Given the description of an element on the screen output the (x, y) to click on. 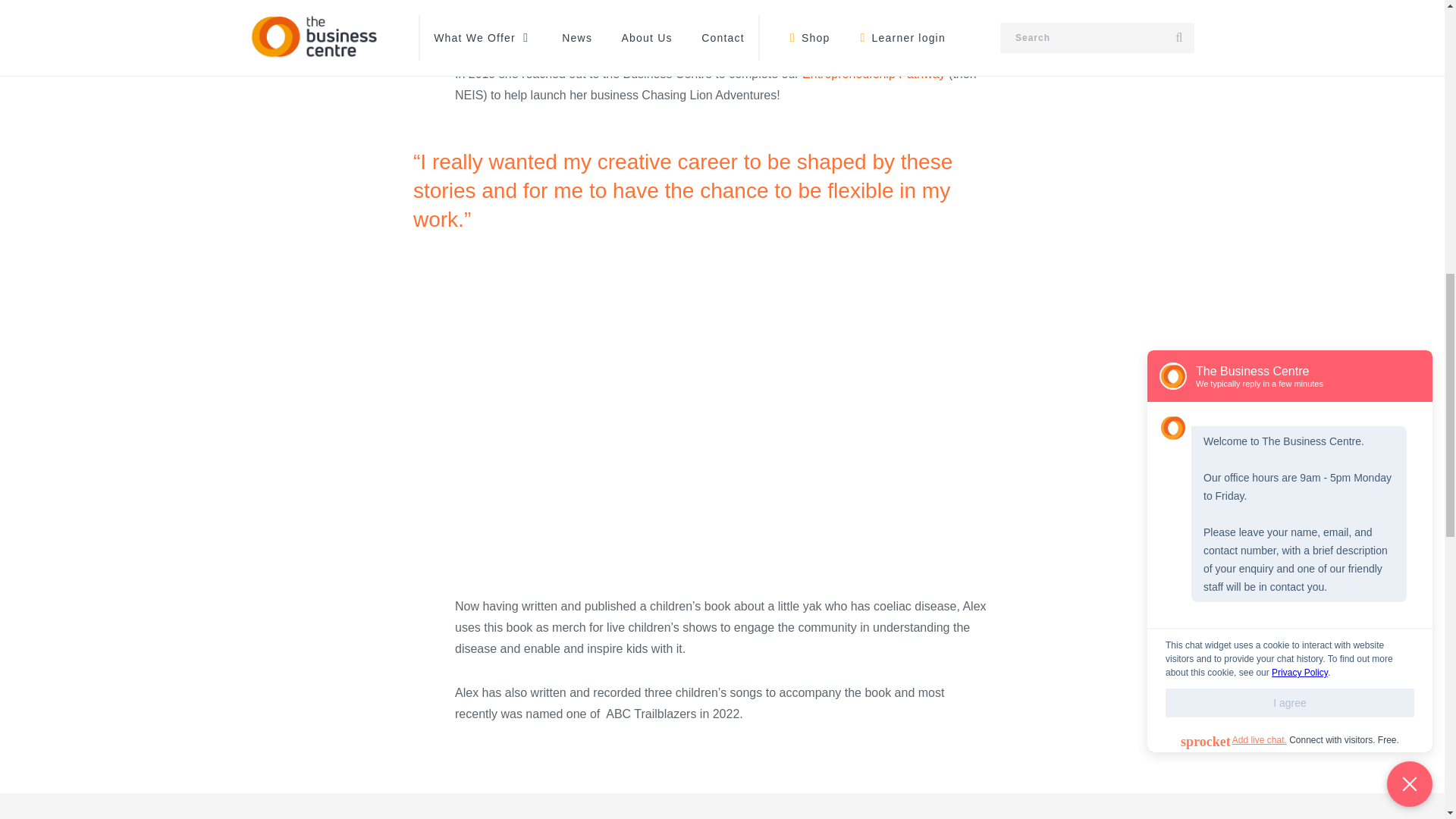
Entrepreneurship Pathway (873, 73)
